Given the description of an element on the screen output the (x, y) to click on. 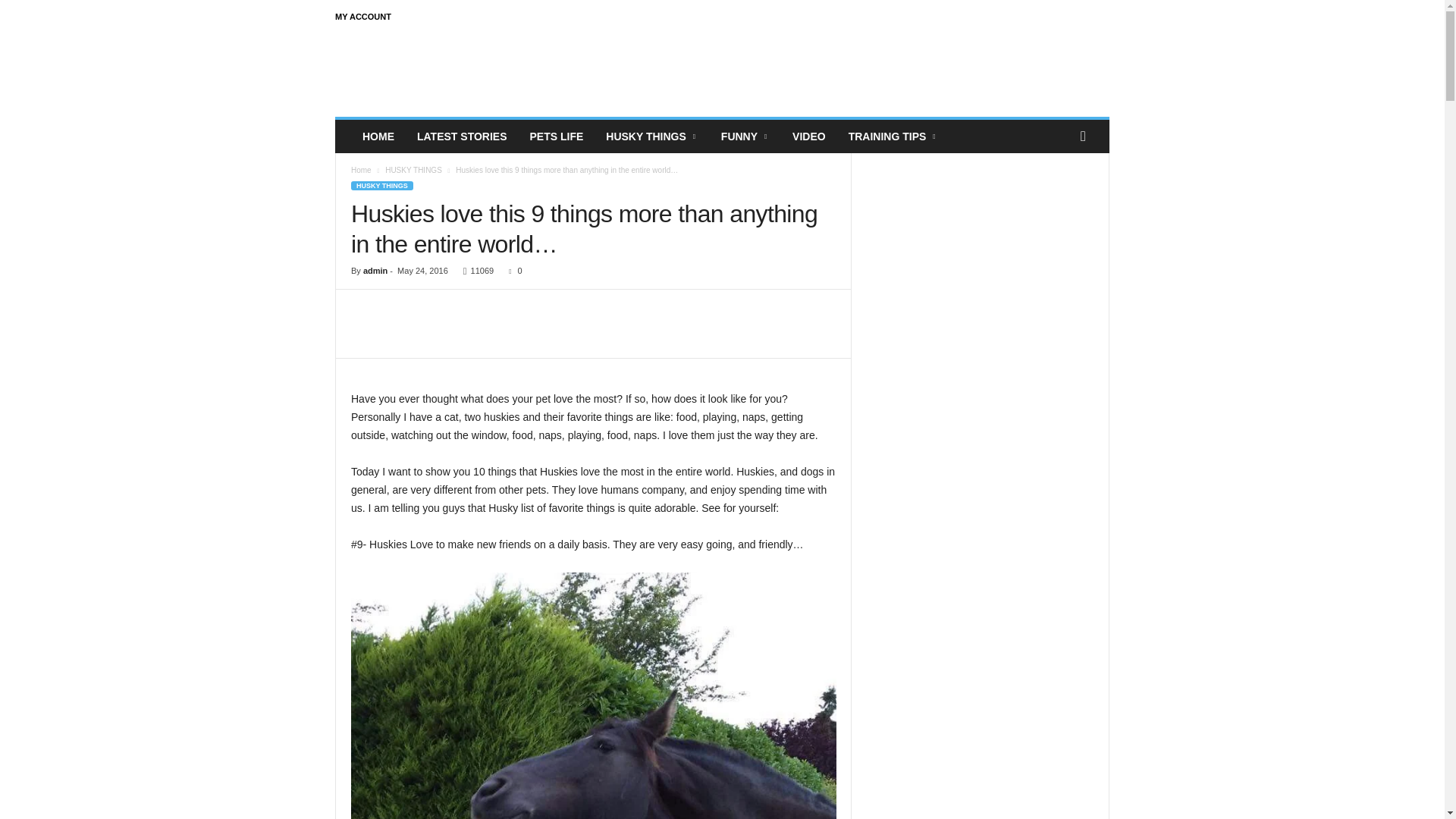
HUSKY THINGS (381, 185)
Home (360, 170)
HOME (378, 136)
FUNNY (745, 136)
admin (374, 270)
0 (511, 270)
VIDEO (808, 136)
HUSKY THINGS (652, 136)
PETS LIFE (556, 136)
View all posts in HUSKY THINGS (413, 170)
